Given the description of an element on the screen output the (x, y) to click on. 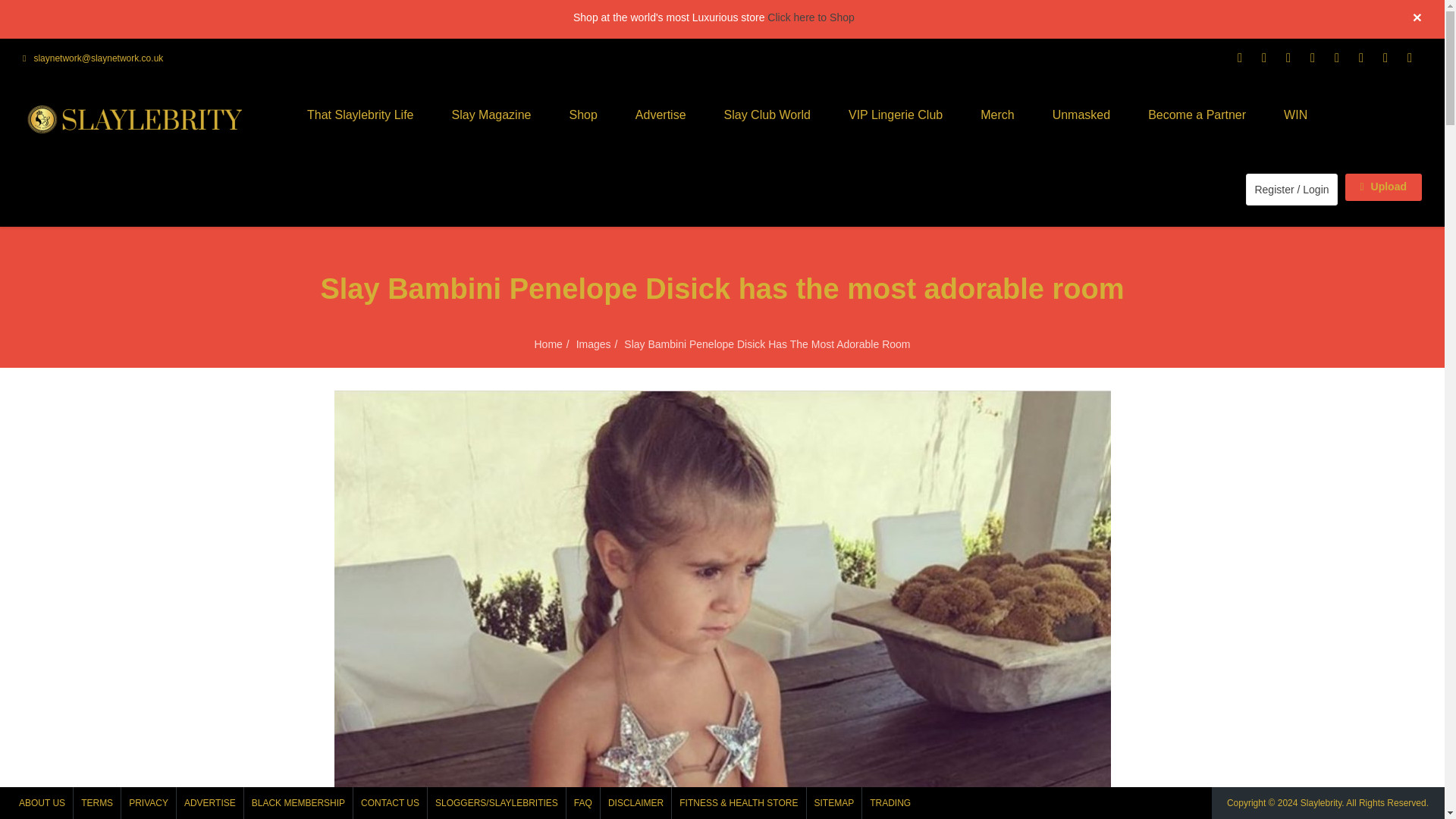
Home (548, 344)
CONTACT US (389, 803)
BLACK MEMBERSHIP (298, 803)
Become a Partner (1197, 114)
Slay Bambini Penelope Disick Has The Most Adorable Room (767, 344)
Slay Magazine (491, 114)
That Slaylebrity Life (360, 114)
VIP Lingerie Club (894, 114)
ADVERTISE (209, 803)
Images (593, 344)
